Given the description of an element on the screen output the (x, y) to click on. 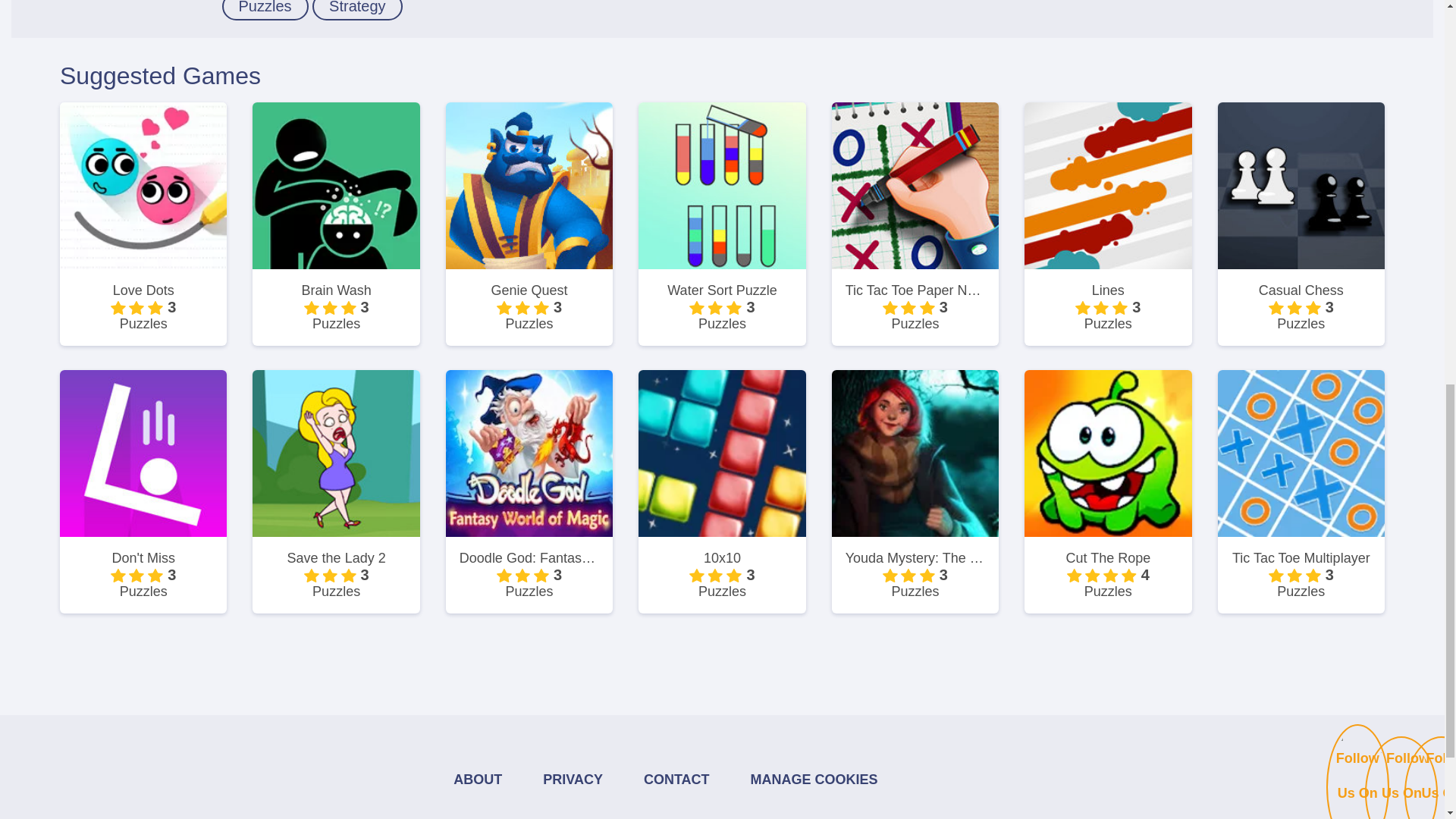
Brain Wash (336, 290)
Strategy (357, 10)
Love Dots (143, 290)
Puzzles (264, 10)
